Given the description of an element on the screen output the (x, y) to click on. 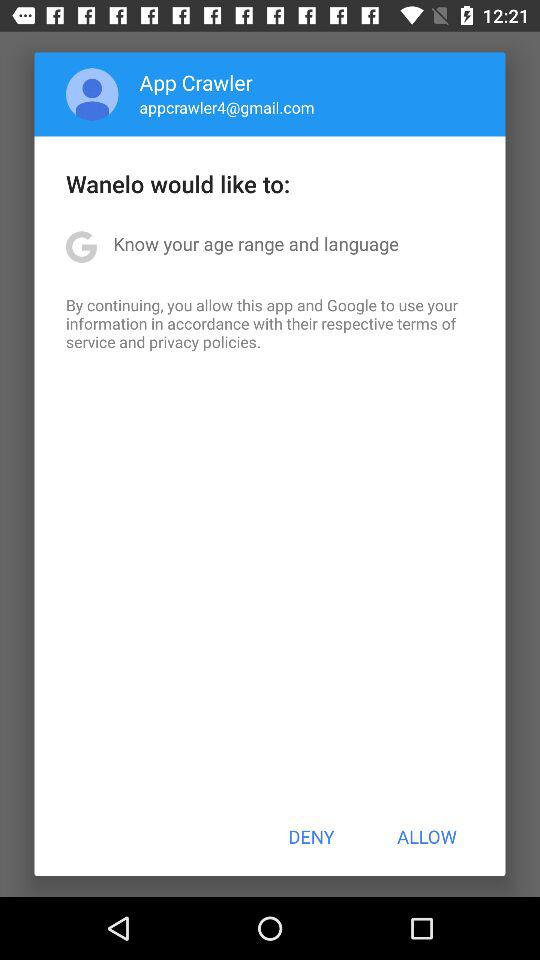
jump to appcrawler4@gmail.com (226, 107)
